Given the description of an element on the screen output the (x, y) to click on. 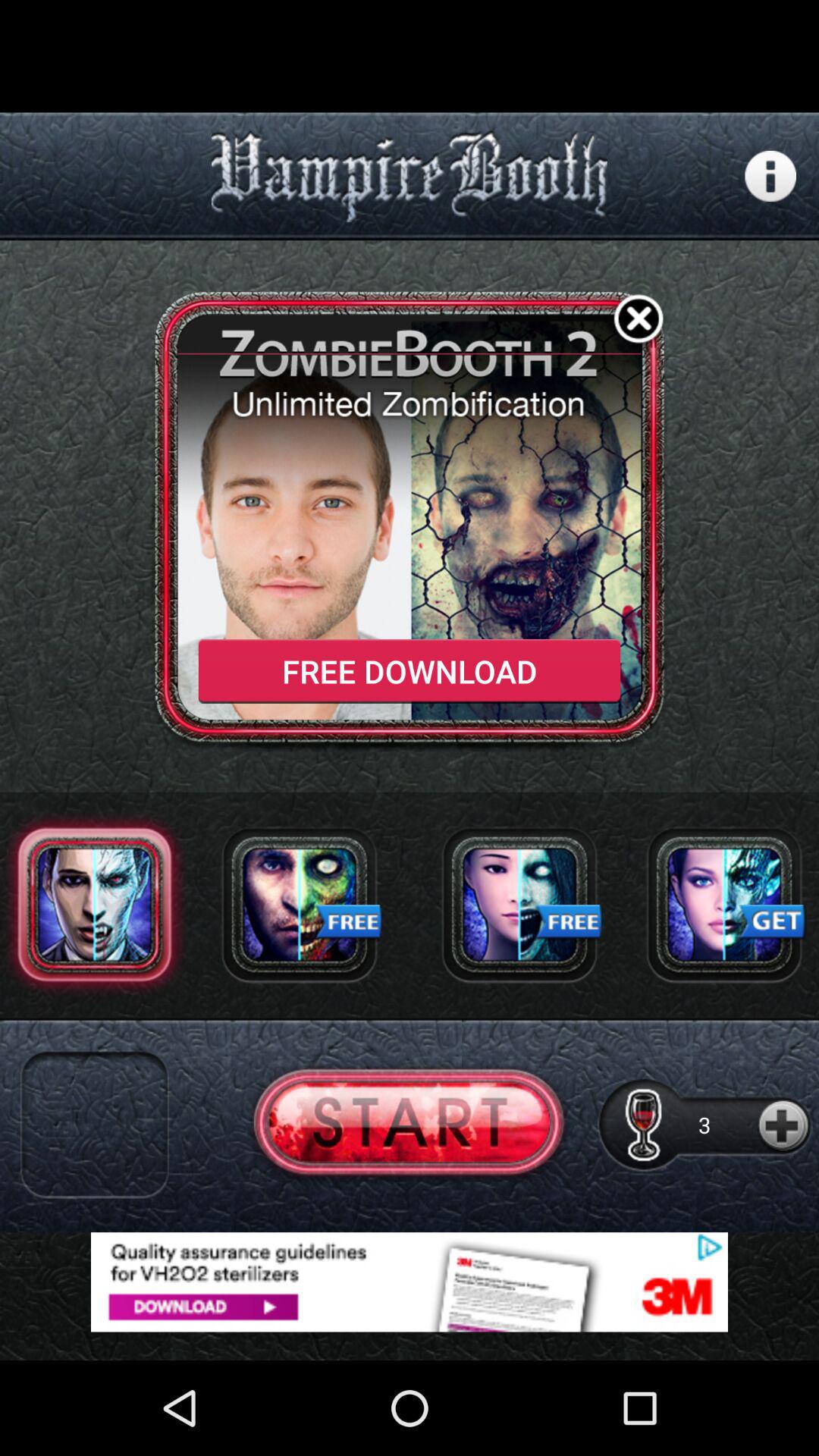
game page (409, 1124)
